Given the description of an element on the screen output the (x, y) to click on. 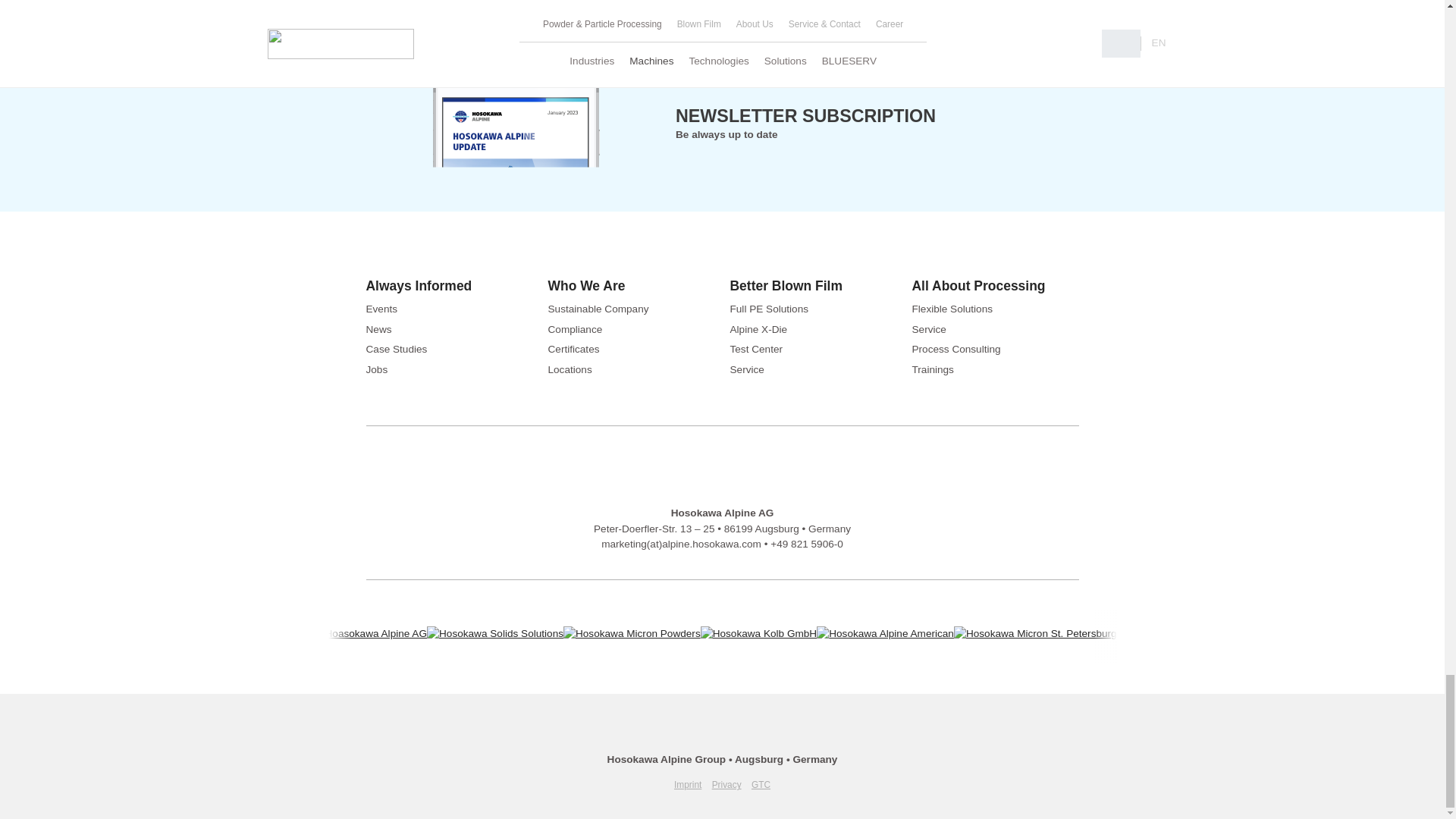
Hosokawa Alpine American (884, 633)
Hosokawa Micron St. Petersburg (1034, 633)
LinkedIn (686, 736)
Hosokawa Alpine AG (369, 633)
Hosokawa Alpine Poland (1179, 633)
xing (721, 736)
Hosokawa Solids Solutions (494, 633)
YouTube (756, 736)
Hosokawa Kolb GmbH (758, 633)
